Given the description of an element on the screen output the (x, y) to click on. 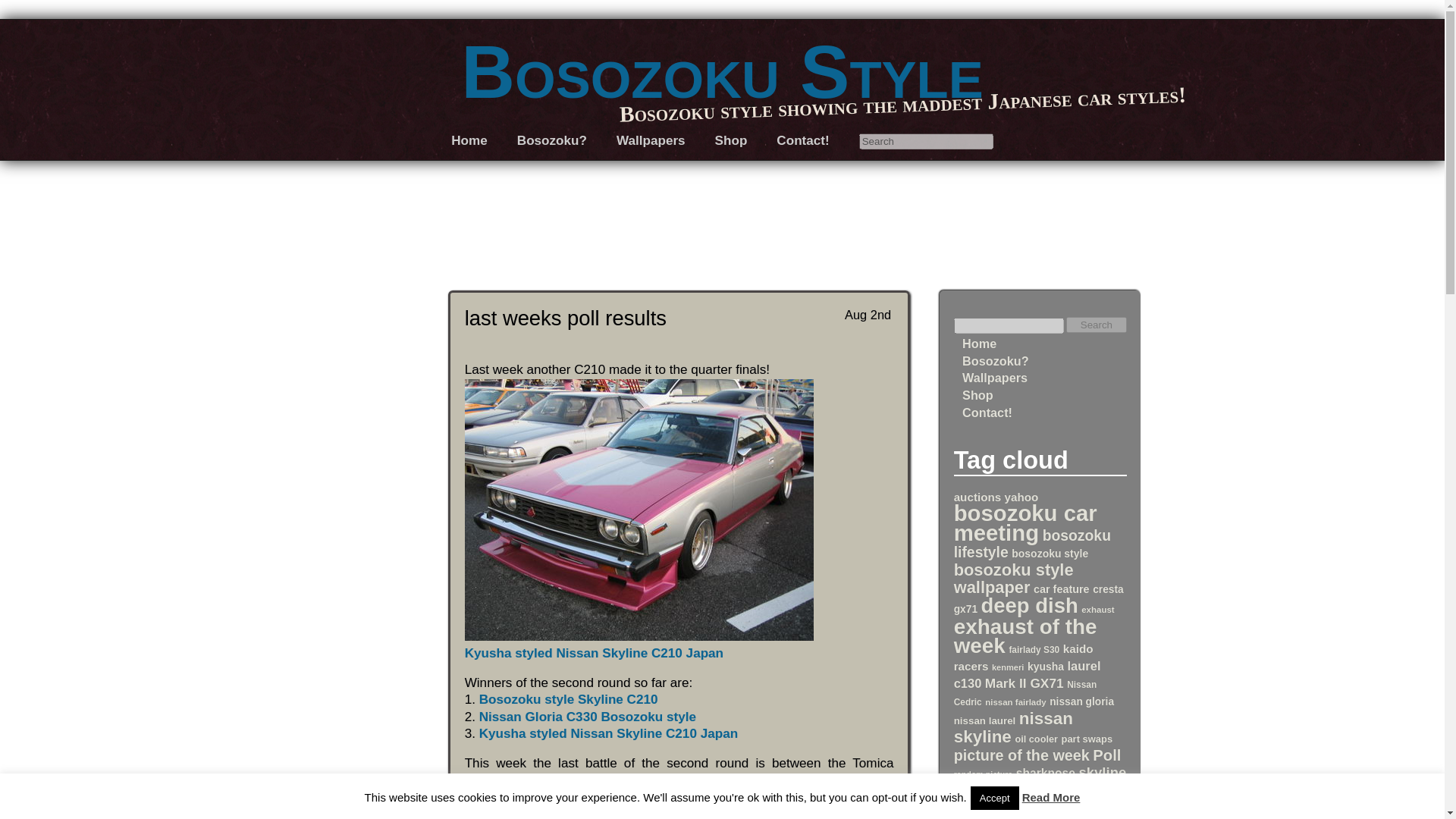
auctions yahoo (996, 496)
picture of the week (1021, 754)
Nissan Cedric (1025, 693)
Home (978, 343)
Kyusha styled Nissan Skyline C210 Japan (638, 644)
kyusha (1045, 666)
cresta gx71 (1038, 599)
Contact! (986, 412)
car feature (1061, 589)
bosozoku style wallpaper (1013, 578)
part swaps (1087, 738)
Search (1095, 324)
exhaust (1097, 609)
skyline c110 (1039, 781)
bosozoku style (1049, 553)
